Given the description of an element on the screen output the (x, y) to click on. 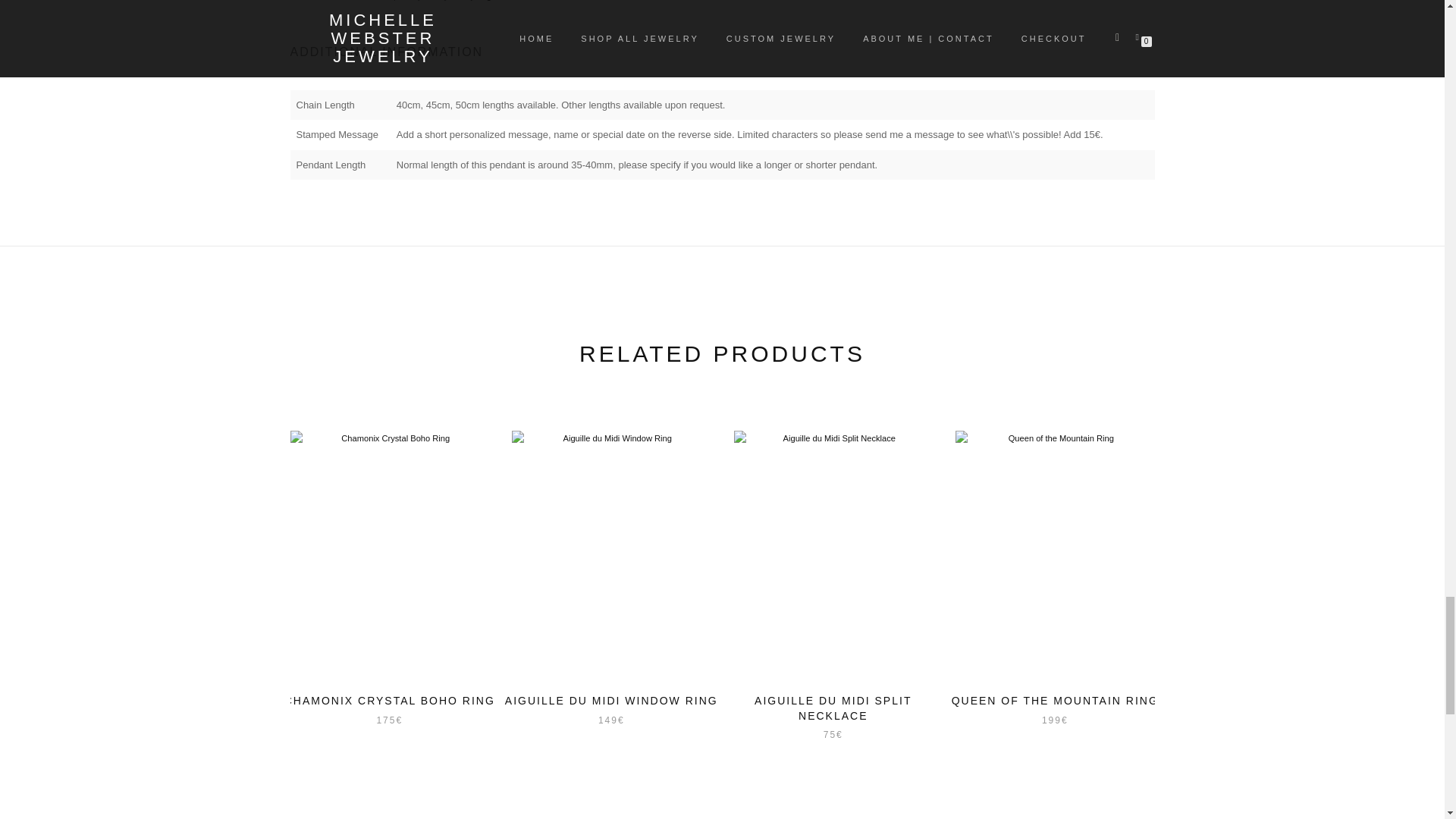
Chamonix Crystal Boho Ring (389, 555)
Aiguille du Midi Window Ring (611, 555)
Aiguille du Midi Split Necklace (832, 555)
